Given the description of an element on the screen output the (x, y) to click on. 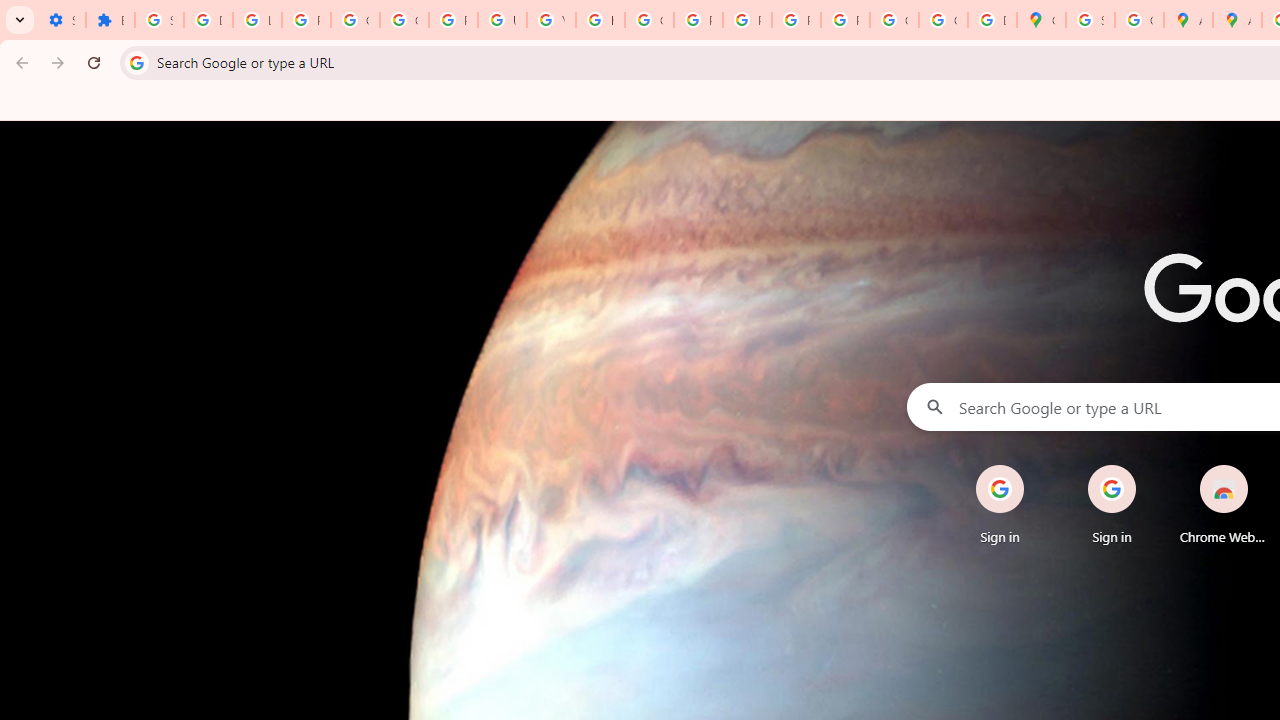
Remove (1263, 466)
Sign in - Google Accounts (1090, 20)
Delete photos & videos - Computer - Google Photos Help (208, 20)
Create your Google Account (1138, 20)
